Given the description of an element on the screen output the (x, y) to click on. 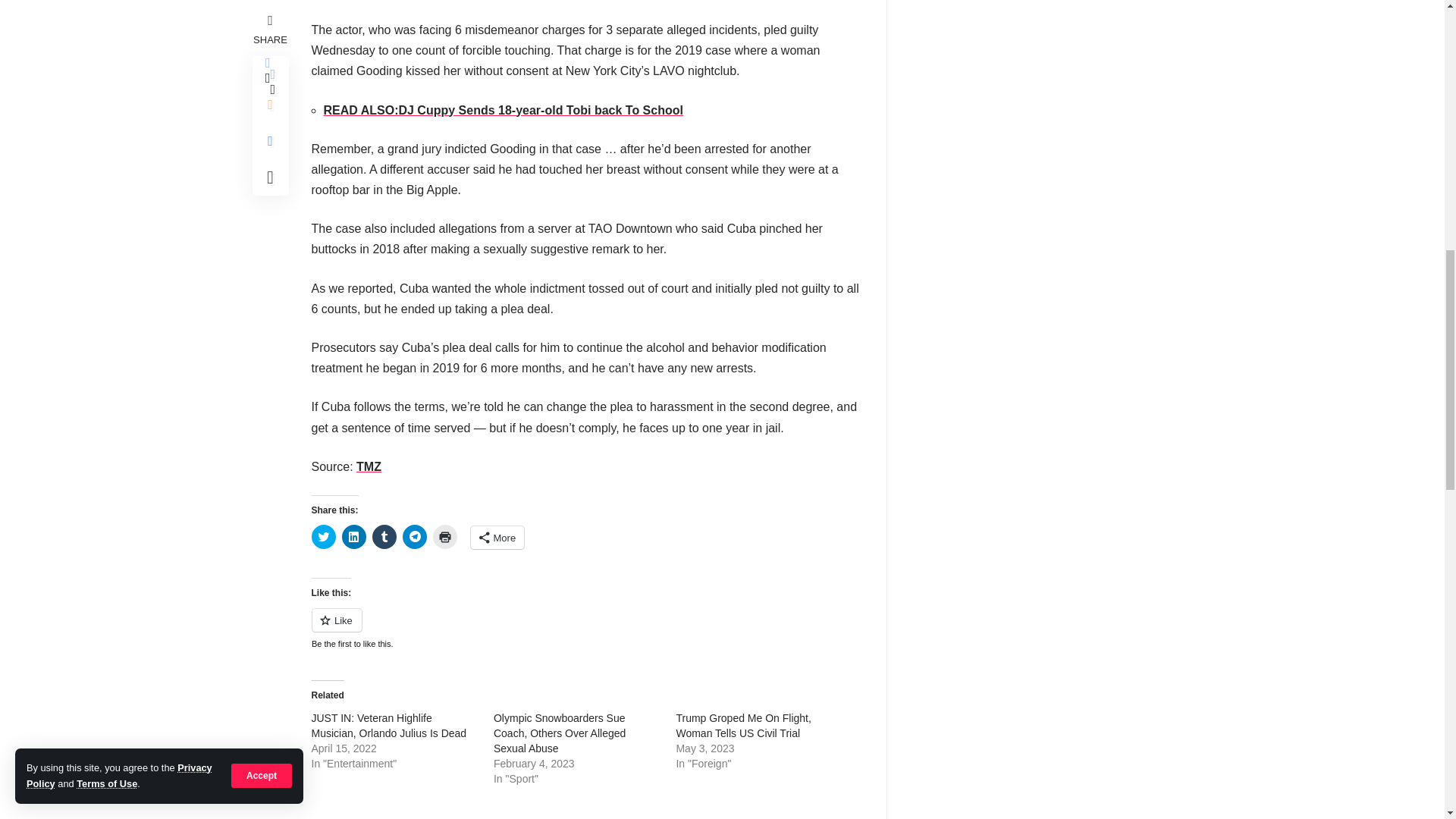
Click to share on Twitter (322, 536)
Click to share on LinkedIn (352, 536)
Click to print (444, 536)
Click to share on Telegram (413, 536)
Click to share on Tumblr (383, 536)
